Given the description of an element on the screen output the (x, y) to click on. 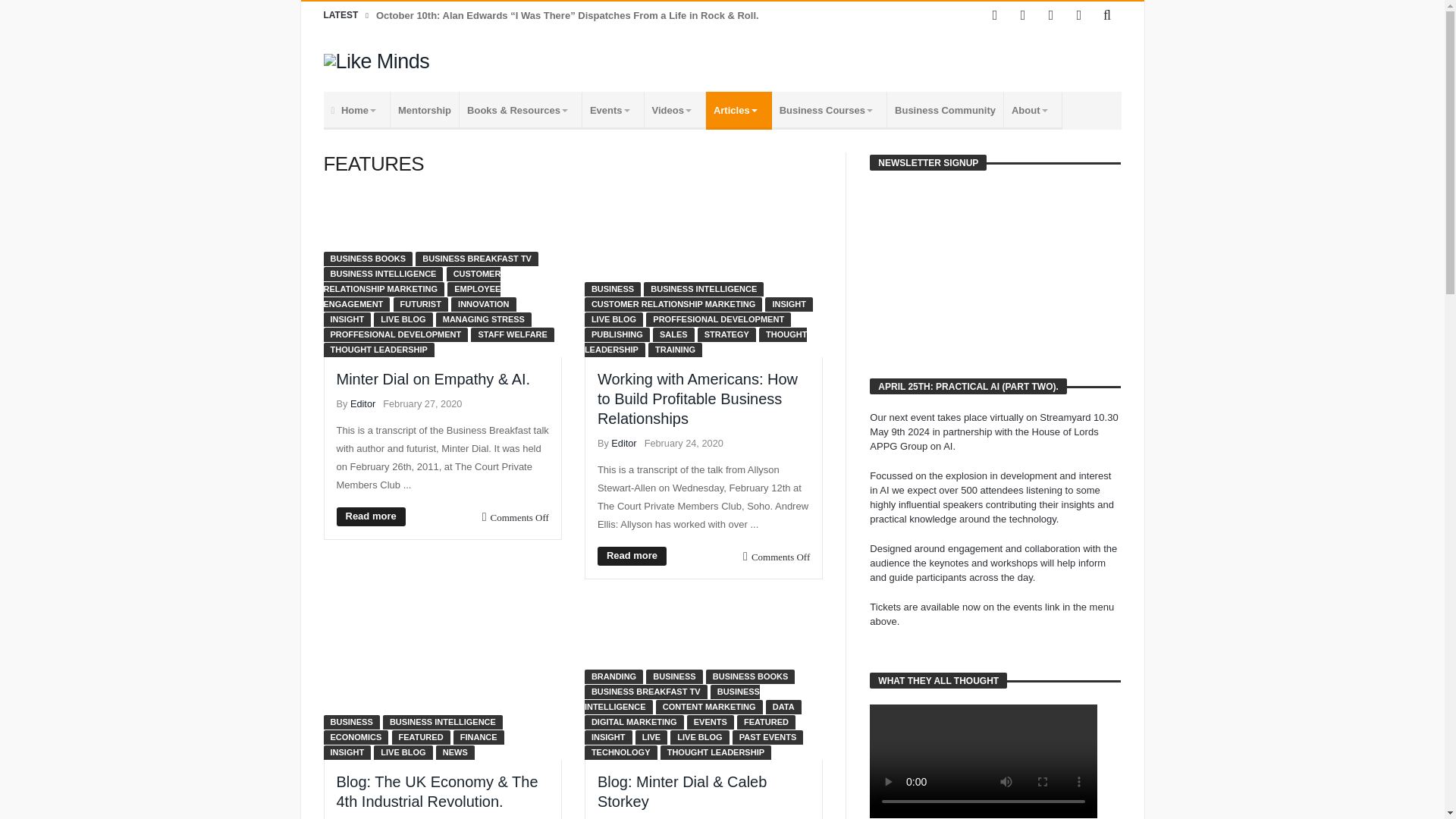
instagram (1078, 15)
Facebook (995, 15)
Articles (738, 110)
Events (613, 110)
Home (356, 110)
Videos (675, 110)
LinkedIn (1050, 15)
Mentorship (425, 110)
Business Courses (828, 110)
Twitter (1022, 15)
